Given the description of an element on the screen output the (x, y) to click on. 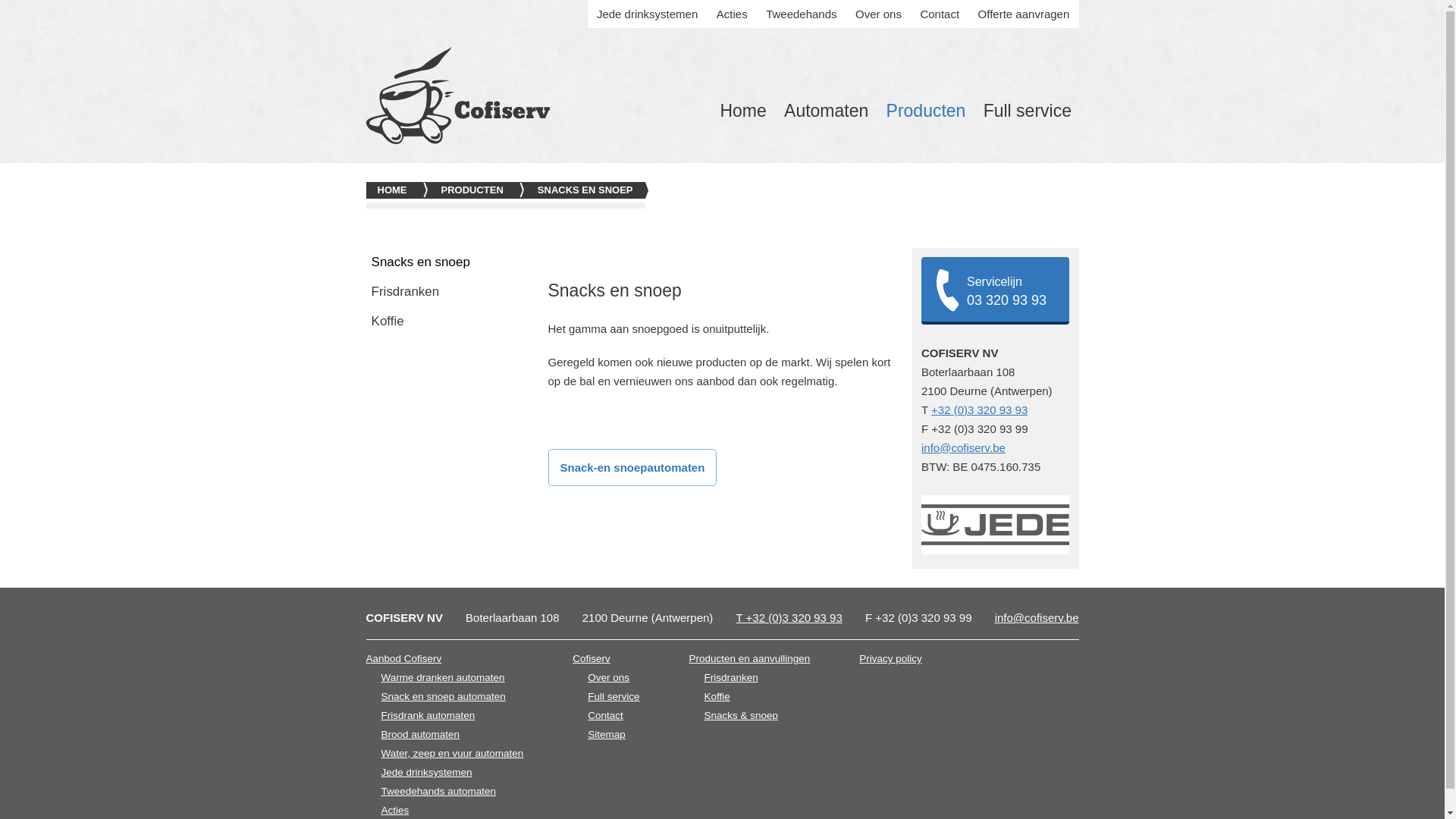
Full service Element type: text (1026, 110)
Aanbod Cofiserv Element type: text (444, 658)
Jede drinksystemen Element type: text (647, 14)
Sitemap Element type: text (613, 733)
Frisdranken Element type: text (756, 677)
PRODUCTEN Element type: text (477, 189)
Tweedehands Element type: text (800, 14)
Over ons Element type: text (613, 677)
Acties Element type: text (732, 14)
Home Element type: hover (457, 95)
Producten en aanvullingen Element type: text (748, 658)
03 320 93 93 Element type: text (1006, 299)
Snacks en snoep Element type: text (448, 262)
Full service Element type: text (613, 696)
Water, zeep en vuur automaten Element type: text (451, 752)
Brood automaten Element type: text (451, 733)
Contact Element type: text (613, 715)
T +32 (0)3 320 93 93 Element type: text (789, 617)
Frisdrank automaten Element type: text (451, 715)
Koffie Element type: text (756, 696)
Privacy policy Element type: text (890, 658)
link naar Jede Element type: text (995, 527)
Home Element type: text (742, 110)
Snack-en snoepautomaten Element type: text (631, 467)
Frisdranken Element type: text (448, 292)
Cofiserv Element type: text (605, 658)
Tweedehands automaten Element type: text (451, 790)
info@cofiserv.be Element type: text (963, 447)
Jede drinksystemen Element type: text (451, 771)
Contact Element type: text (939, 14)
Offerte aanvragen Element type: text (1023, 14)
HOME Element type: text (397, 189)
Koffie Element type: text (448, 321)
Automaten Element type: text (825, 110)
info@cofiserv.be Element type: text (1036, 617)
Snacks & snoep Element type: text (756, 715)
Snack en snoep automaten Element type: text (451, 696)
Over ons Element type: text (878, 14)
Warme dranken automaten Element type: text (451, 677)
+32 (0)3 320 93 93 Element type: text (979, 409)
Producten Element type: text (925, 110)
